Given the description of an element on the screen output the (x, y) to click on. 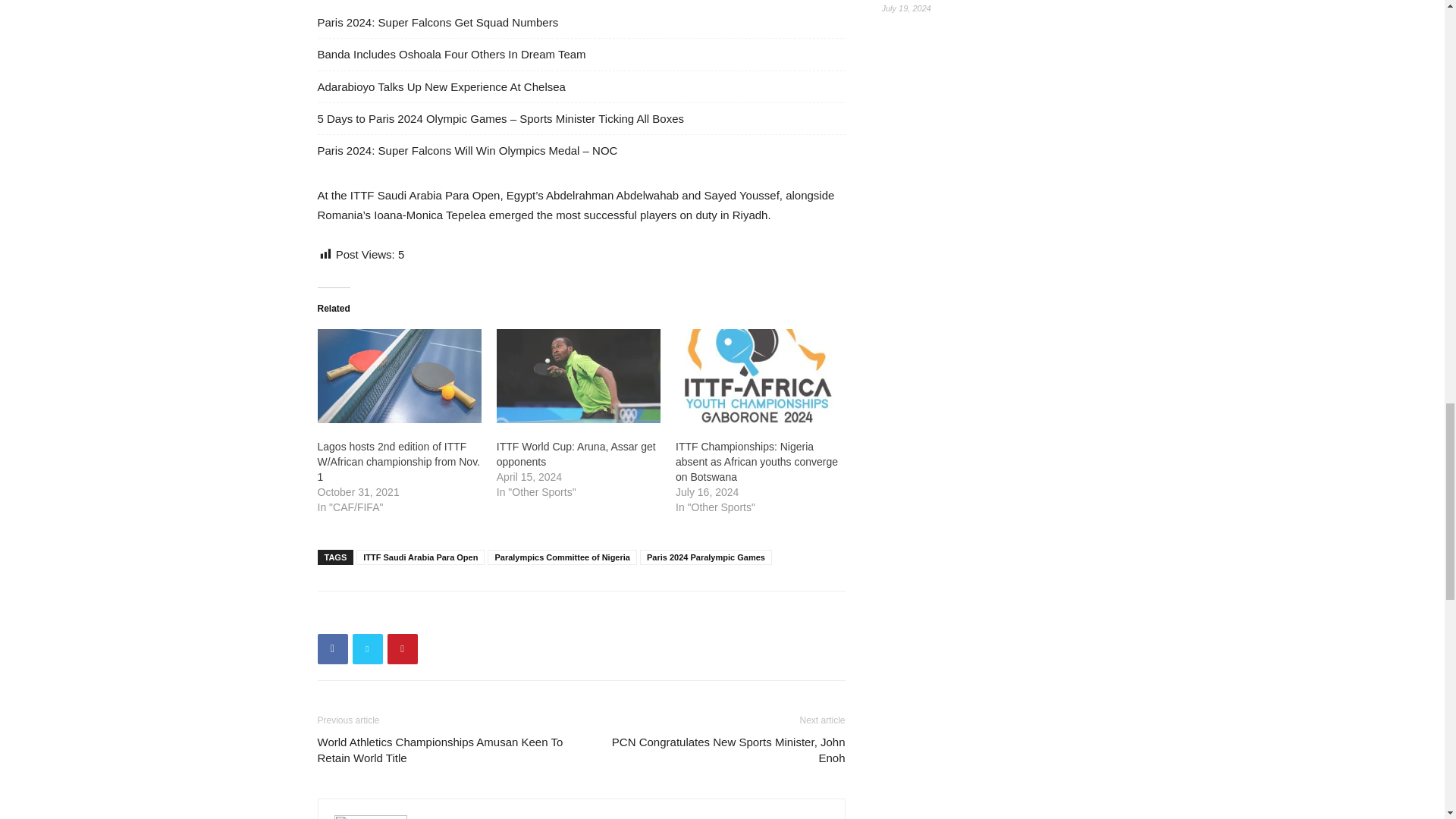
ITTF World Cup: Aruna, Assar get opponents (578, 376)
